Given the description of an element on the screen output the (x, y) to click on. 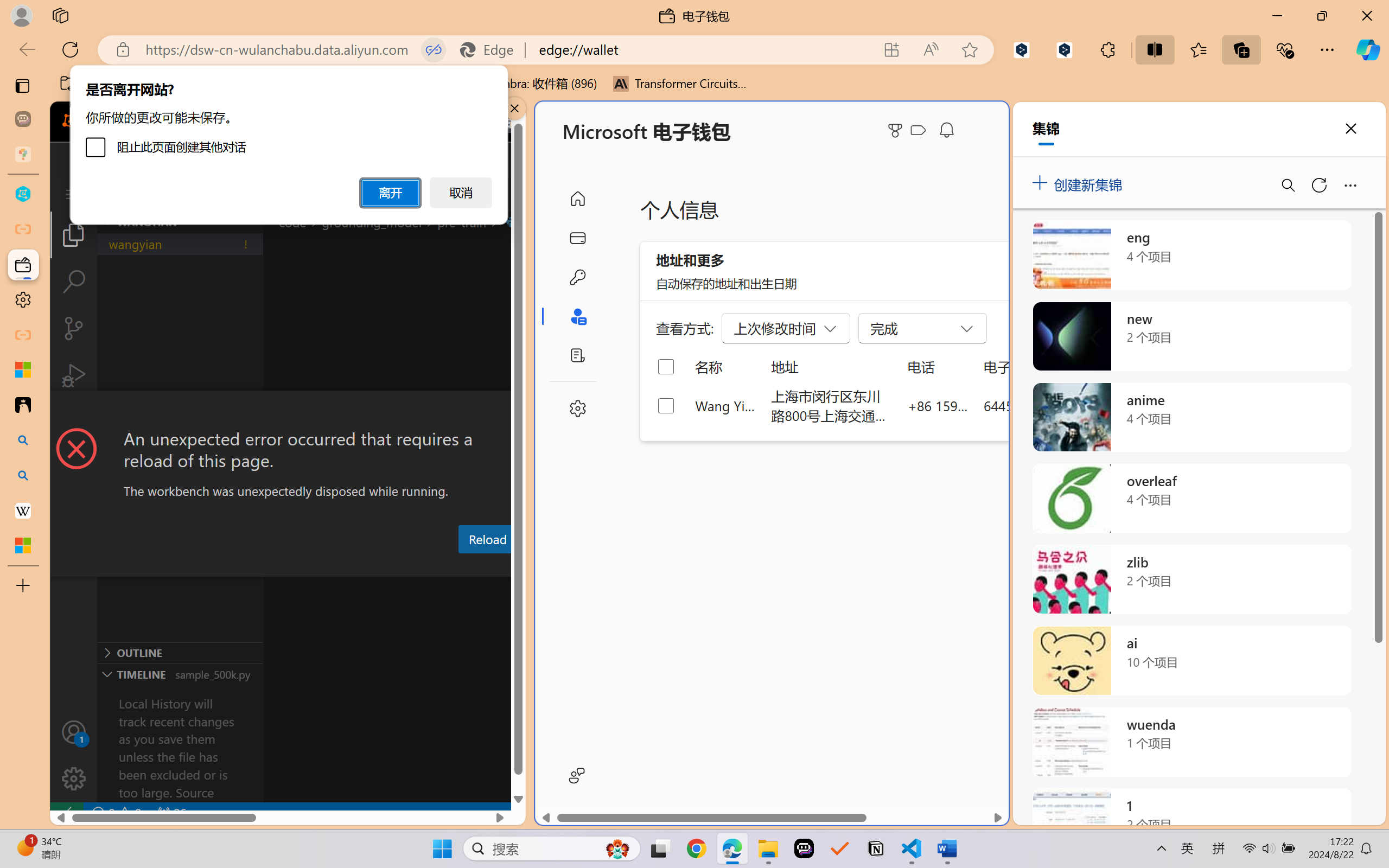
remote (66, 812)
644553698@qq.com (1043, 405)
Timeline Section (179, 673)
